Given the description of an element on the screen output the (x, y) to click on. 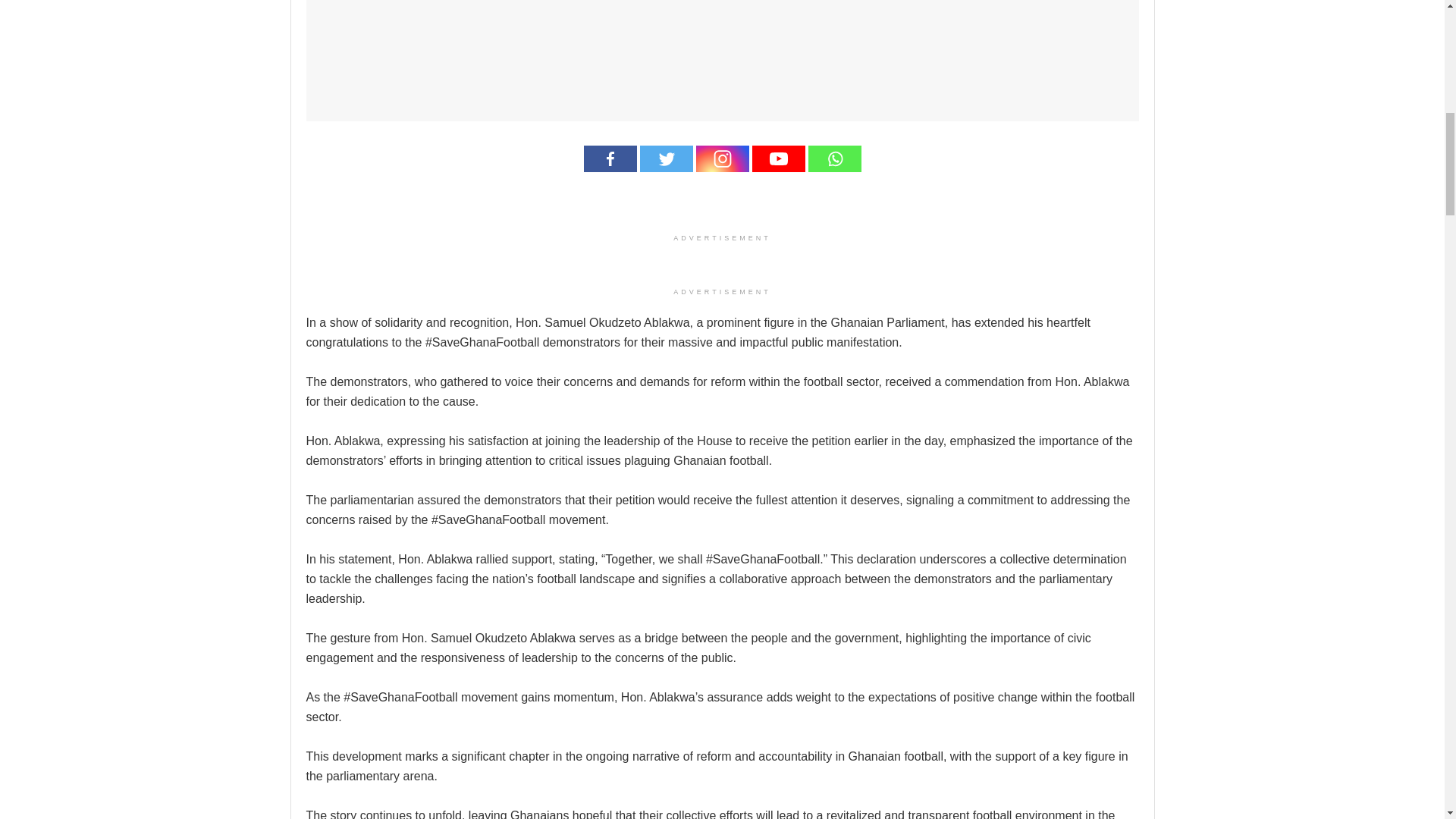
Facebook (610, 158)
Twitter (666, 158)
Youtube (778, 158)
Instagram (722, 158)
Whatsapp (834, 158)
